Given the description of an element on the screen output the (x, y) to click on. 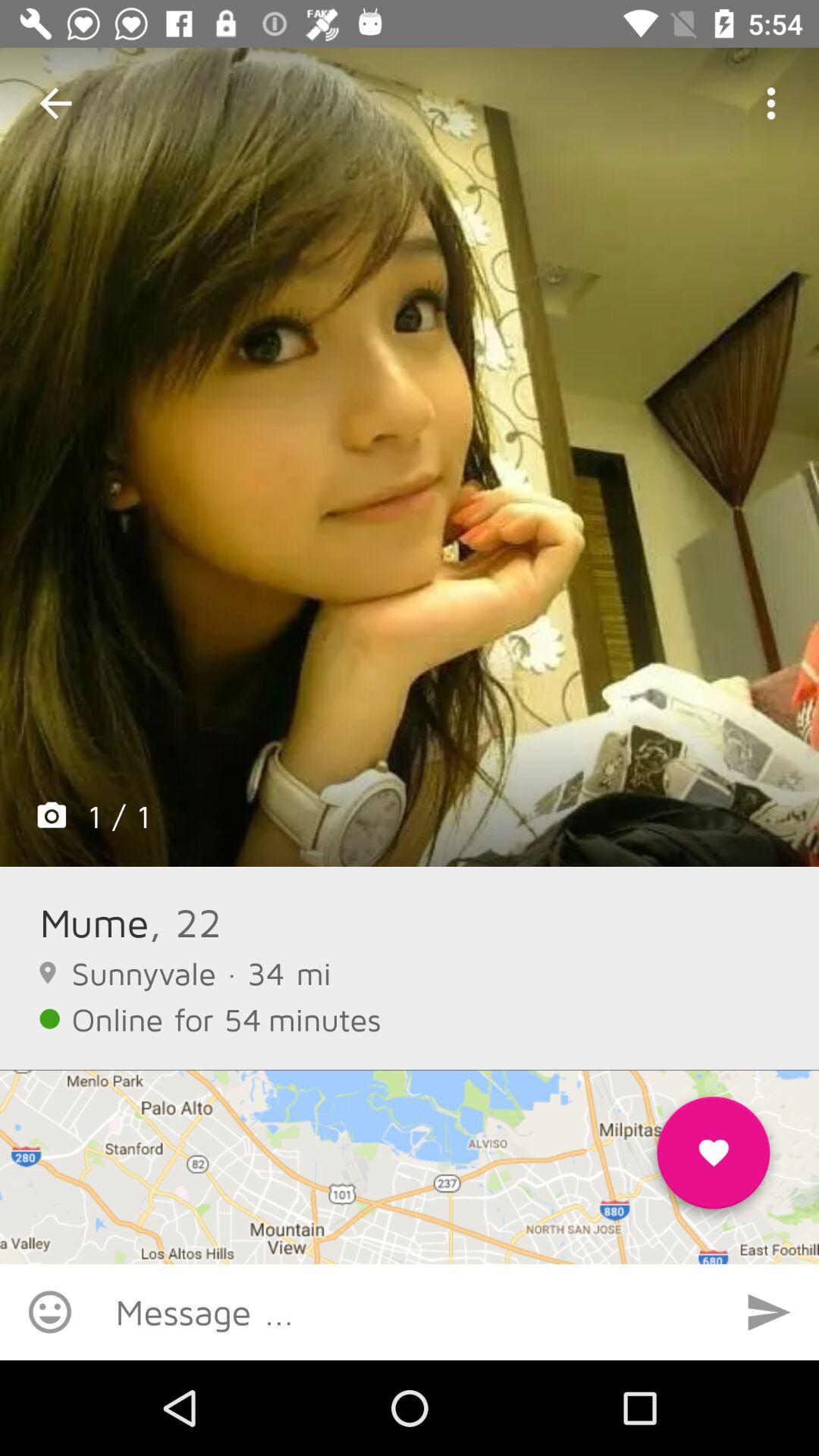
launch icon at the top right corner (771, 103)
